Given the description of an element on the screen output the (x, y) to click on. 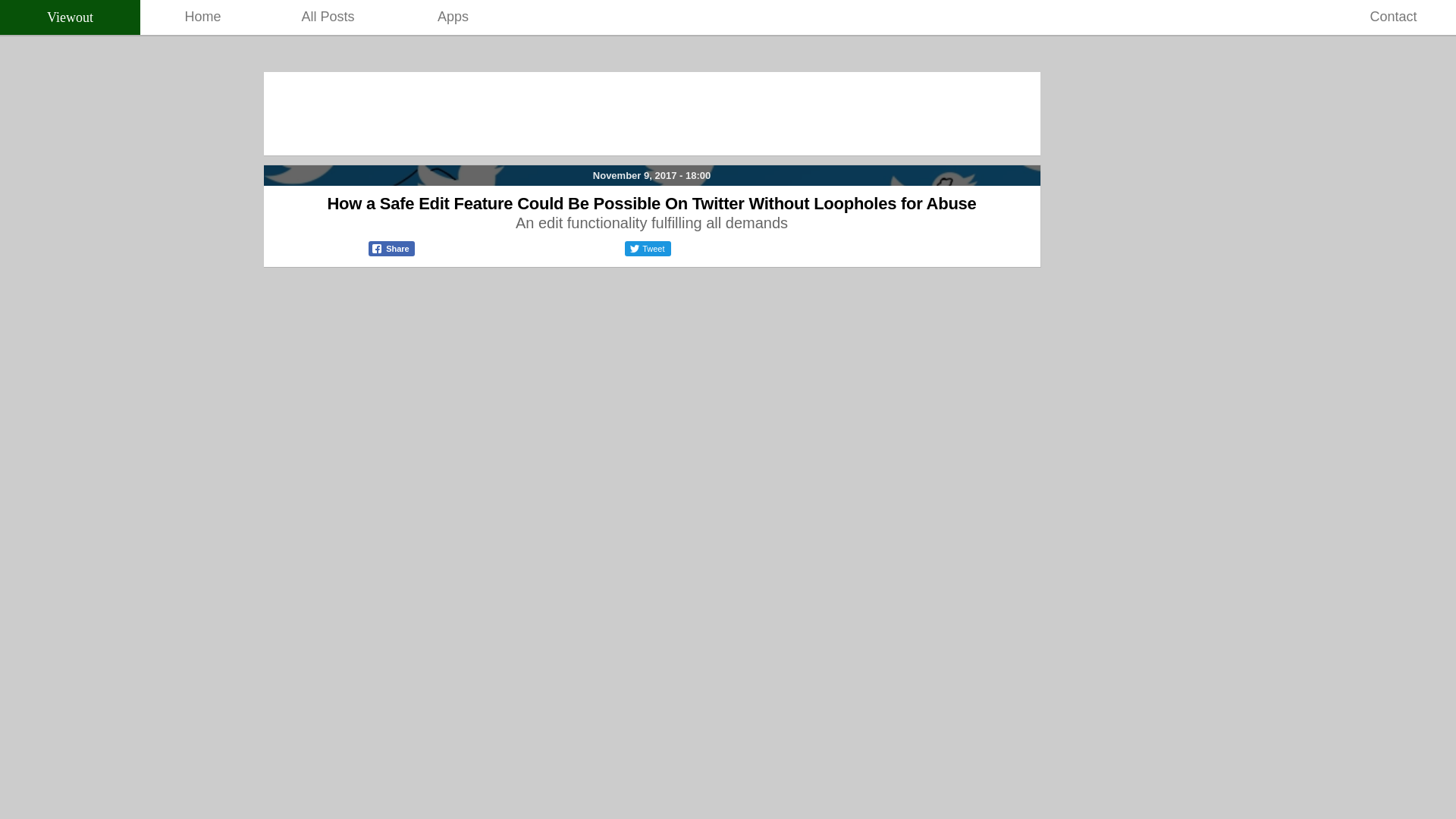
Tweet (646, 252)
Viewout (69, 17)
Share (391, 252)
